Given the description of an element on the screen output the (x, y) to click on. 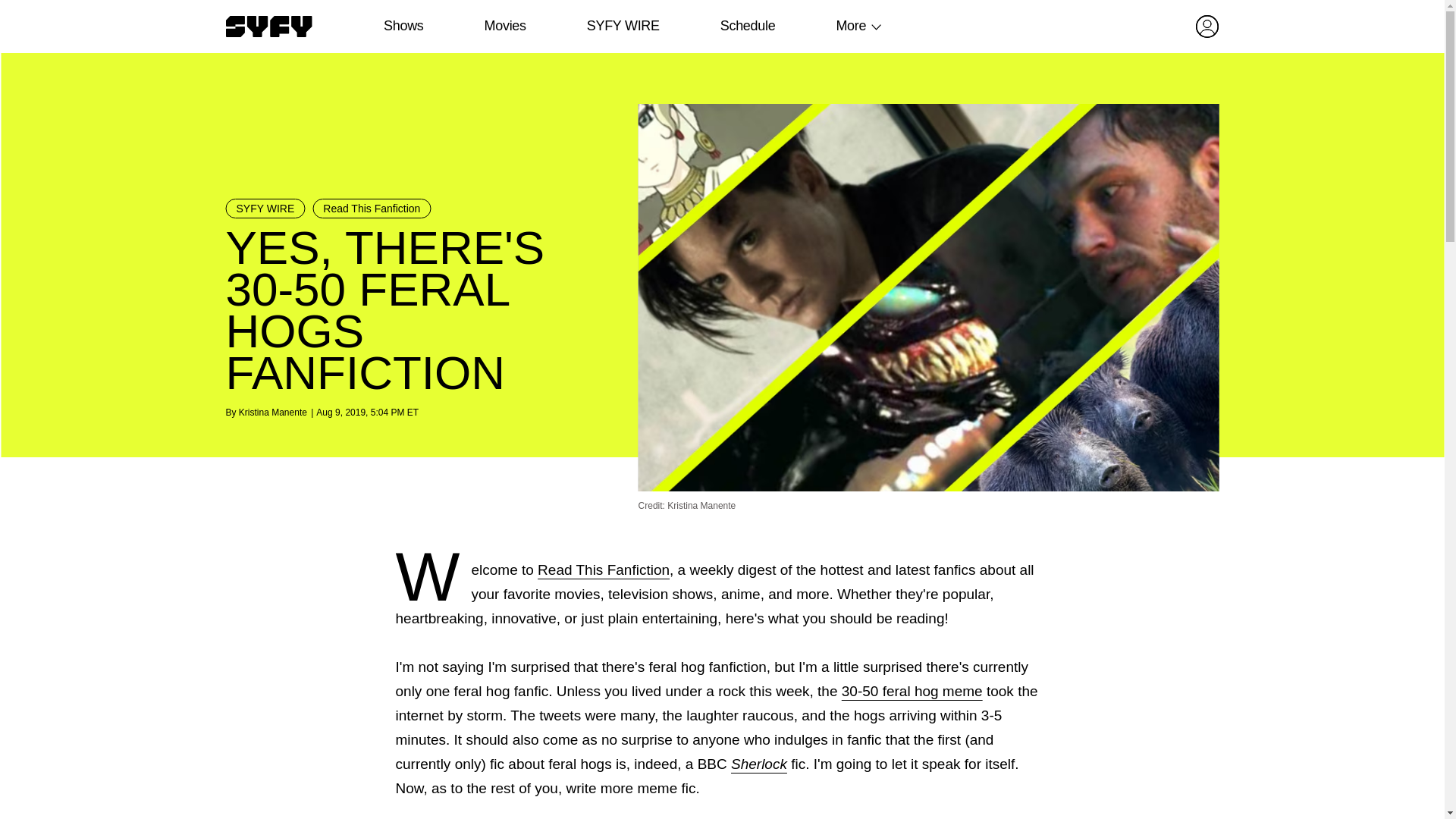
SYFY WIRE (265, 208)
Read This Fanfiction (371, 208)
30-50 feral hog meme (911, 691)
Schedule (746, 26)
Sherlock (758, 763)
Kristina Manente (272, 412)
Read This Fanfiction (603, 569)
Shows (403, 26)
More (850, 26)
Movies (504, 26)
SYFY WIRE (622, 26)
